Given the description of an element on the screen output the (x, y) to click on. 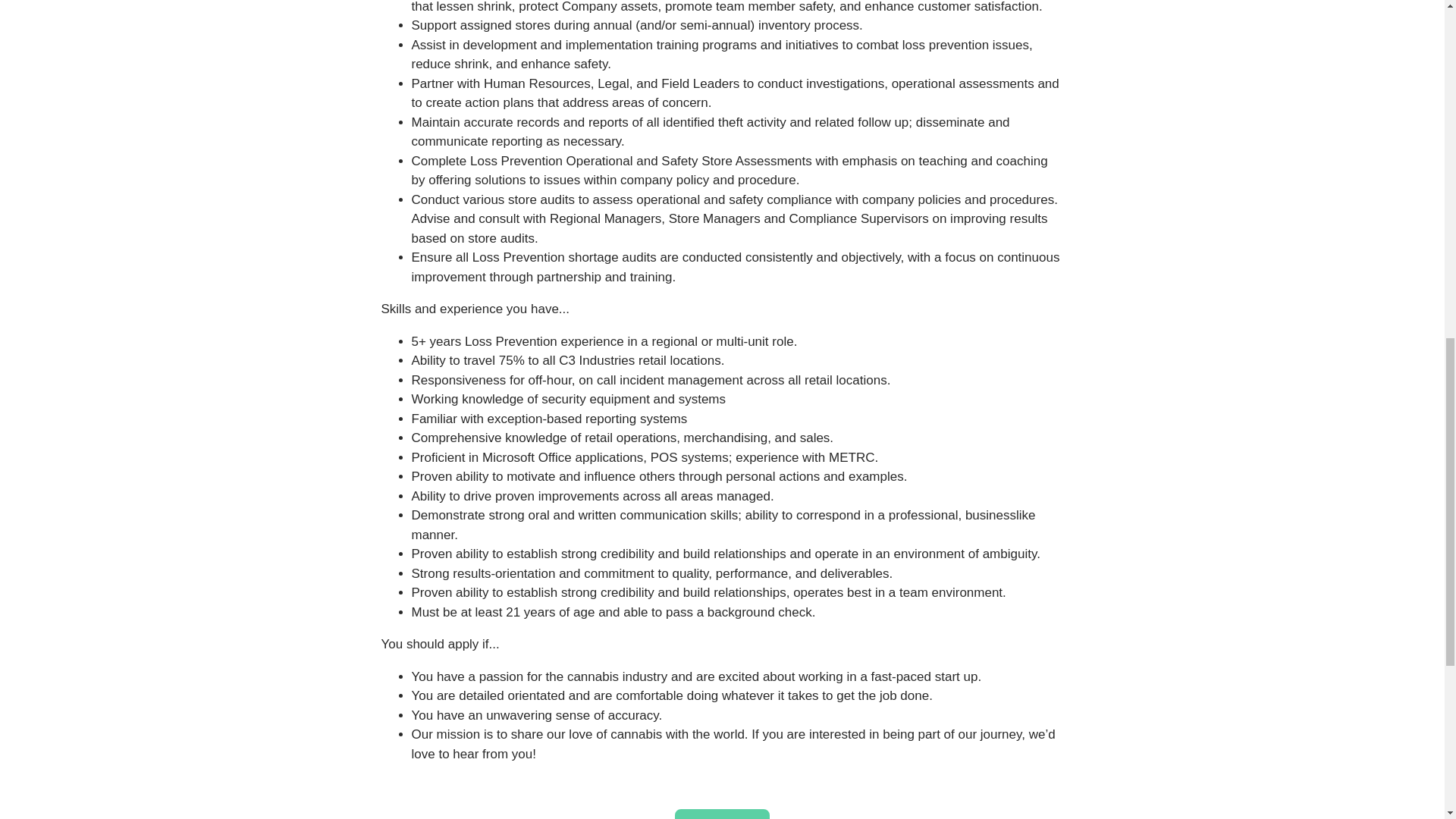
APPLY (722, 814)
